Given the description of an element on the screen output the (x, y) to click on. 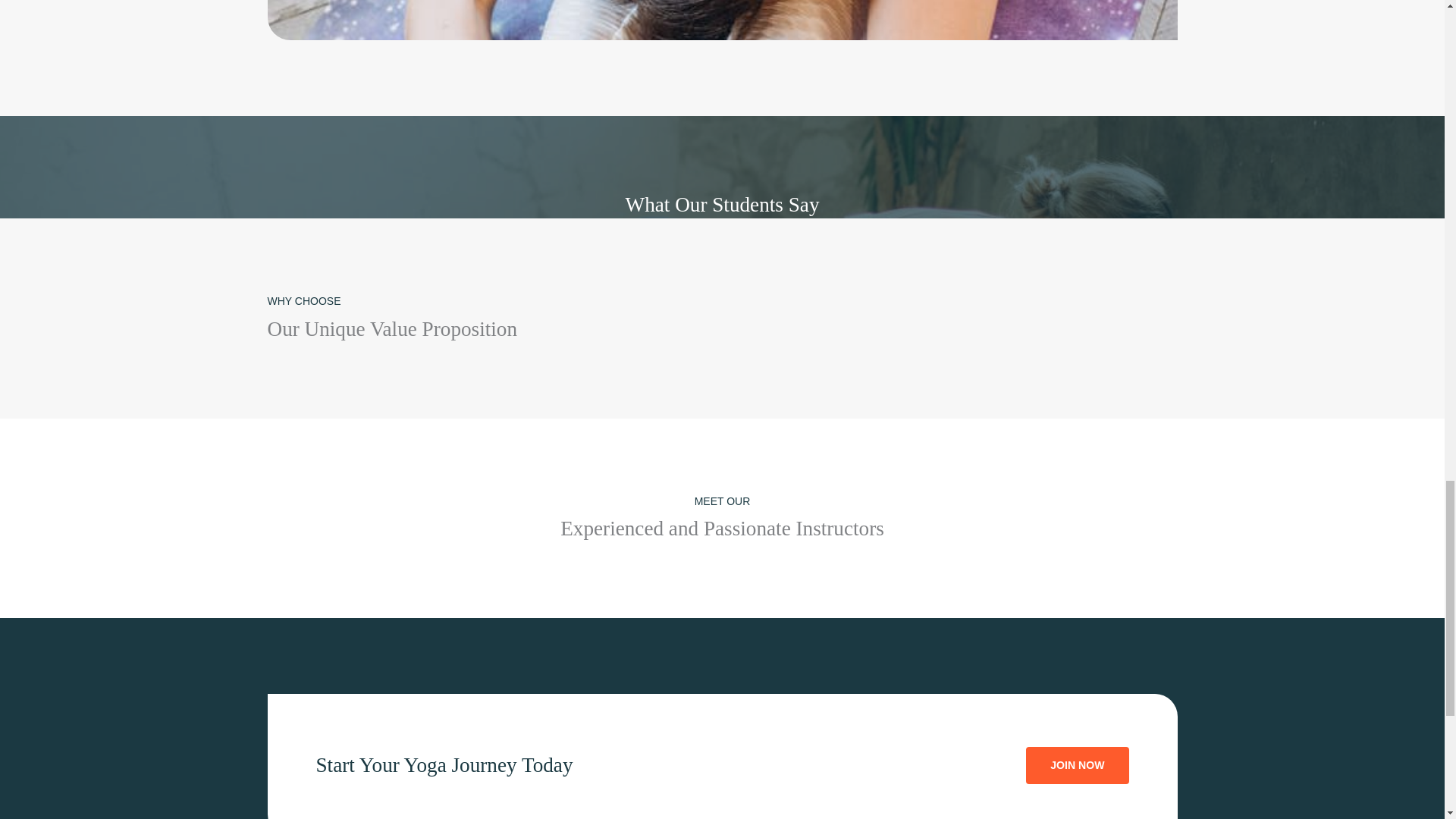
JOIN NOW (1077, 764)
our-stories (721, 20)
